Given the description of an element on the screen output the (x, y) to click on. 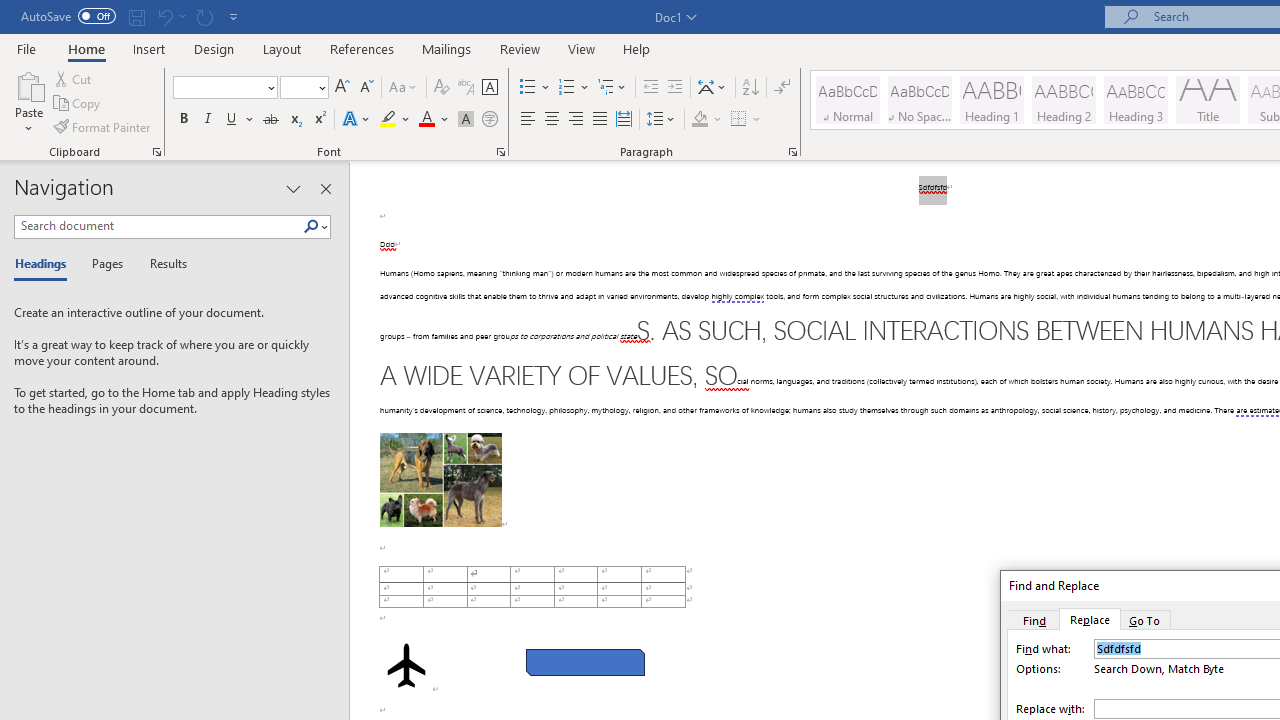
Character Shading (465, 119)
Change Case (404, 87)
Morphological variation in six dogs (440, 479)
Subscript (294, 119)
Character Border (489, 87)
Office Clipboard... (156, 151)
Heading 2 (1063, 100)
Heading 3 (1135, 100)
